Given the description of an element on the screen output the (x, y) to click on. 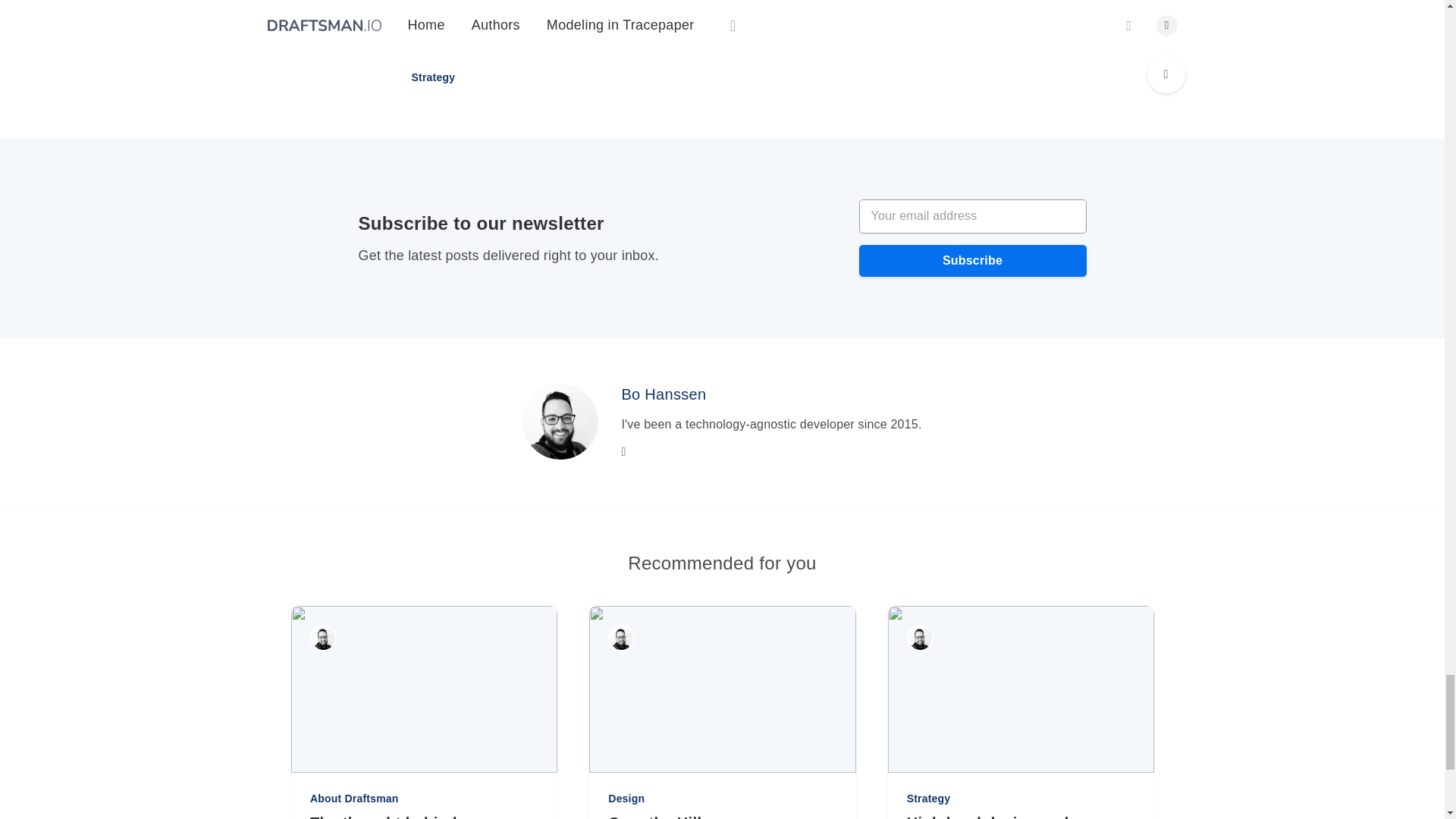
Strategy (432, 77)
Strategy (432, 77)
High level design and Choosing a cloud provider (1019, 816)
Over the Hill (721, 816)
The thought behind Tracepaper (422, 816)
Bo Hanssen (663, 393)
Subscribe (972, 260)
